Given the description of an element on the screen output the (x, y) to click on. 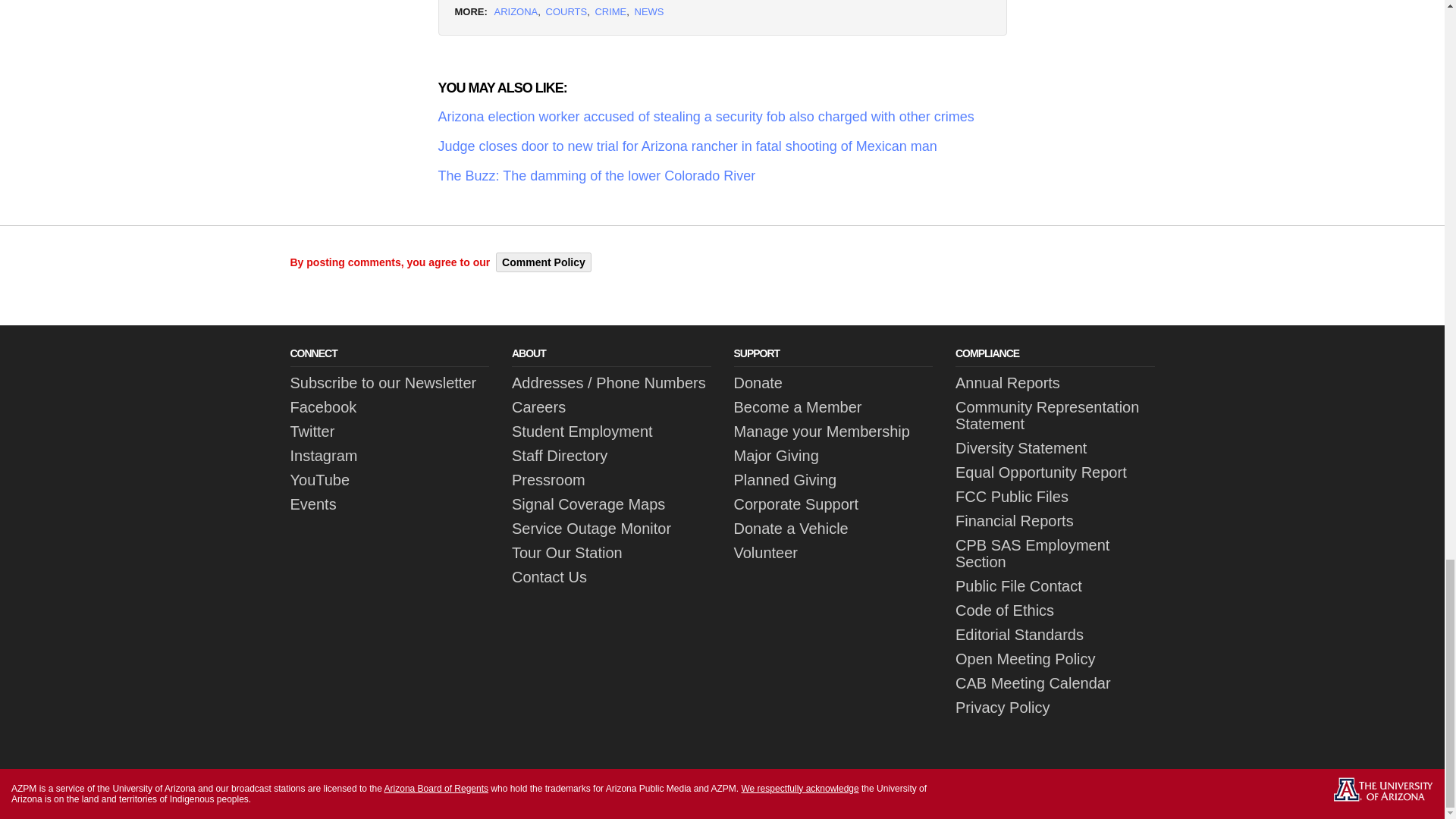
The Buzz: The damming of the lower Colorado River (722, 176)
